Given the description of an element on the screen output the (x, y) to click on. 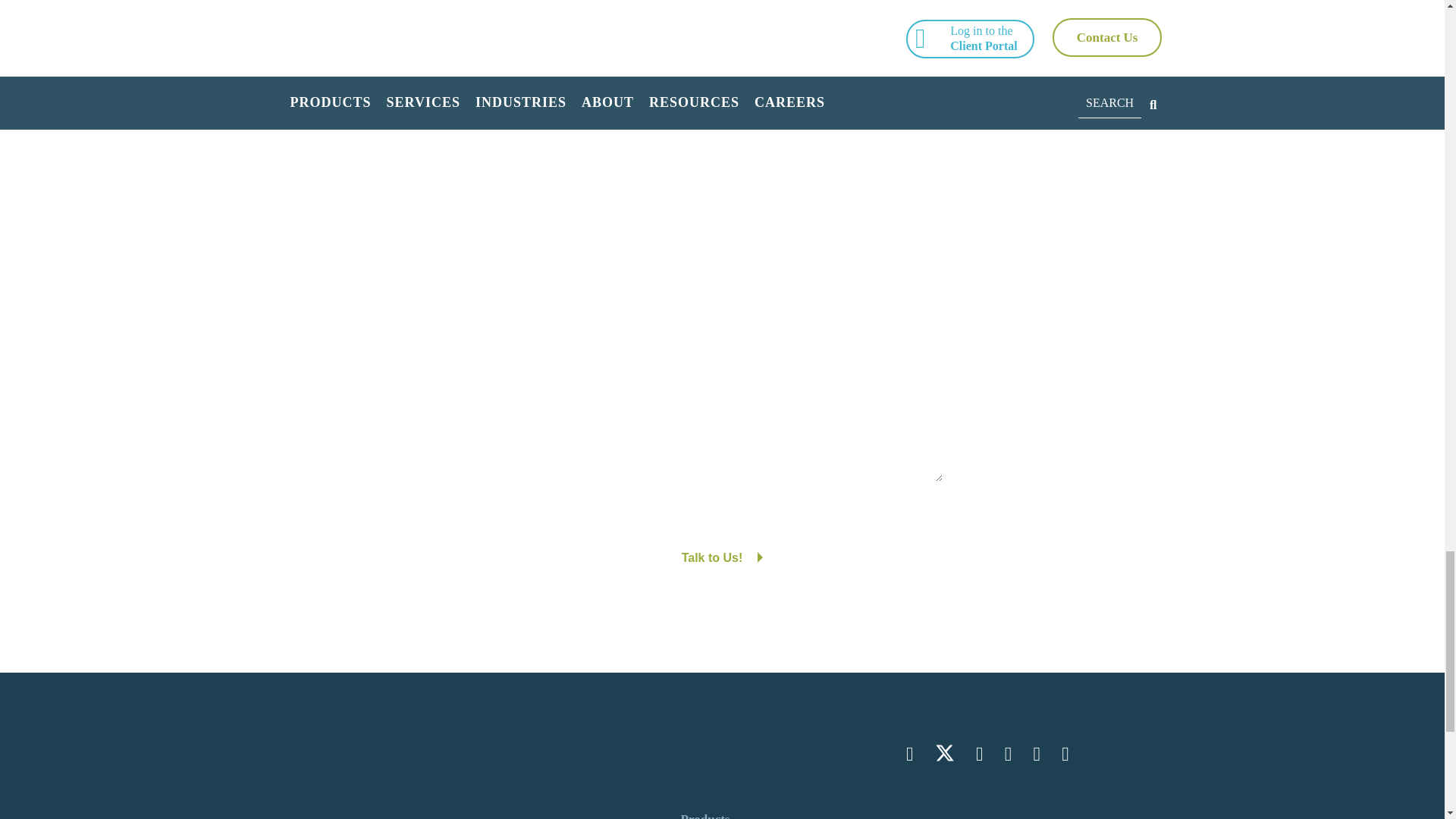
Last Name (824, 196)
Website Comments (722, 443)
Phone Number (824, 325)
First Name (604, 225)
Phone Number (824, 354)
First Name (604, 196)
Company Name (714, 260)
Website Comments (722, 390)
Company Name (714, 290)
Last Name (824, 225)
E-mail (604, 325)
E-mail (604, 354)
